Given the description of an element on the screen output the (x, y) to click on. 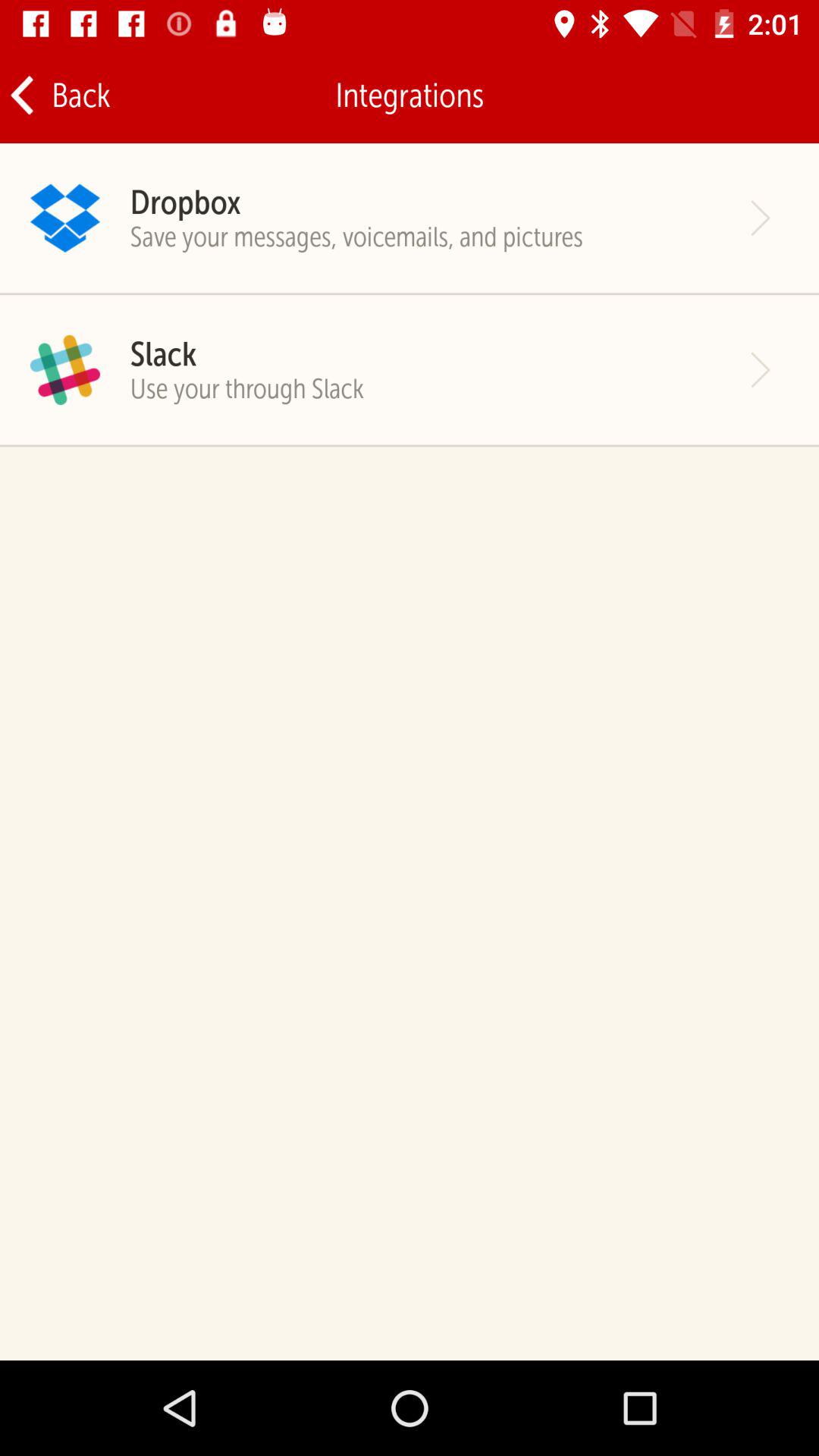
scroll to back item (59, 95)
